Given the description of an element on the screen output the (x, y) to click on. 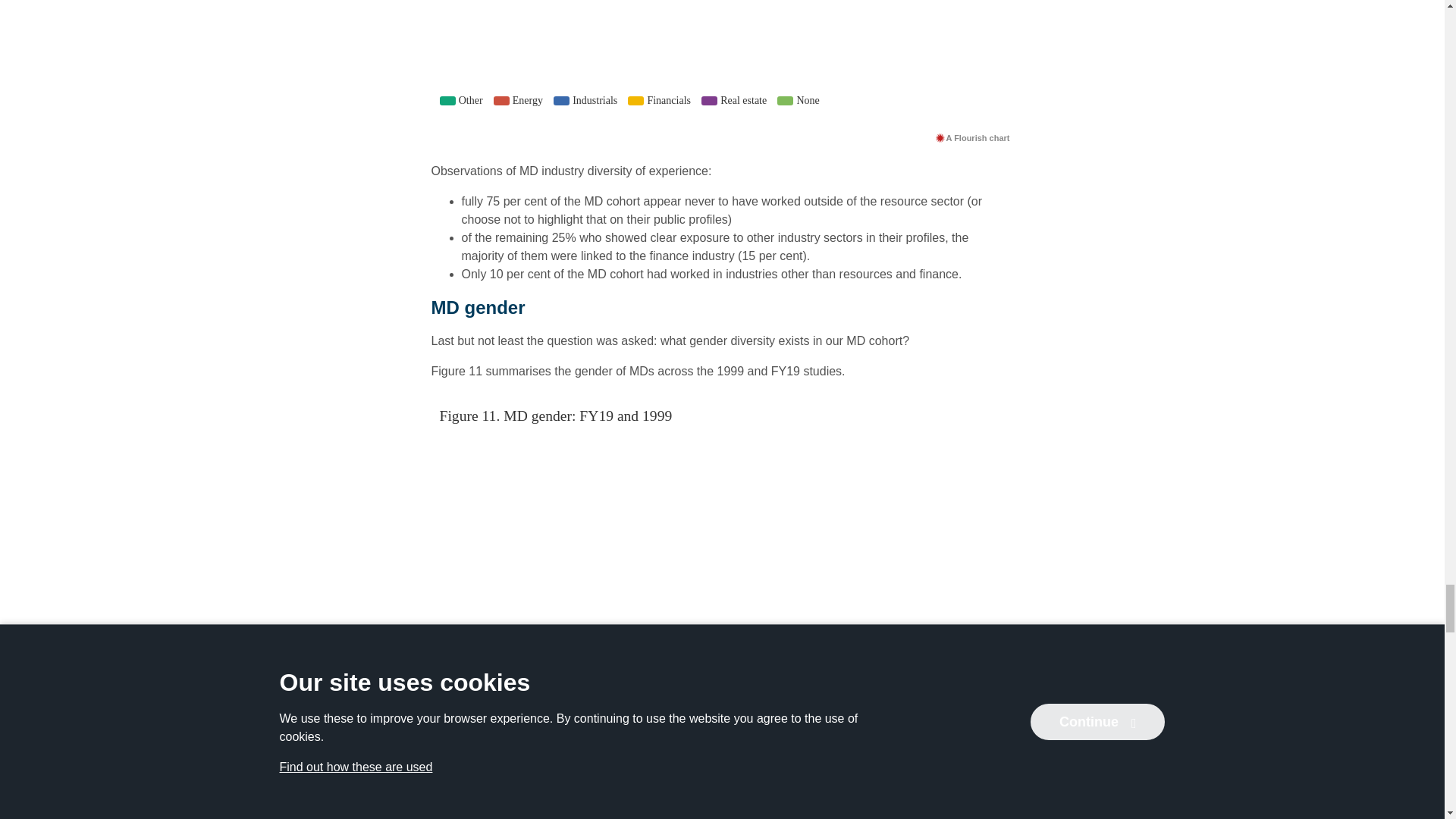
Interactive or visual content (721, 63)
A Flourish chart (972, 137)
